Given the description of an element on the screen output the (x, y) to click on. 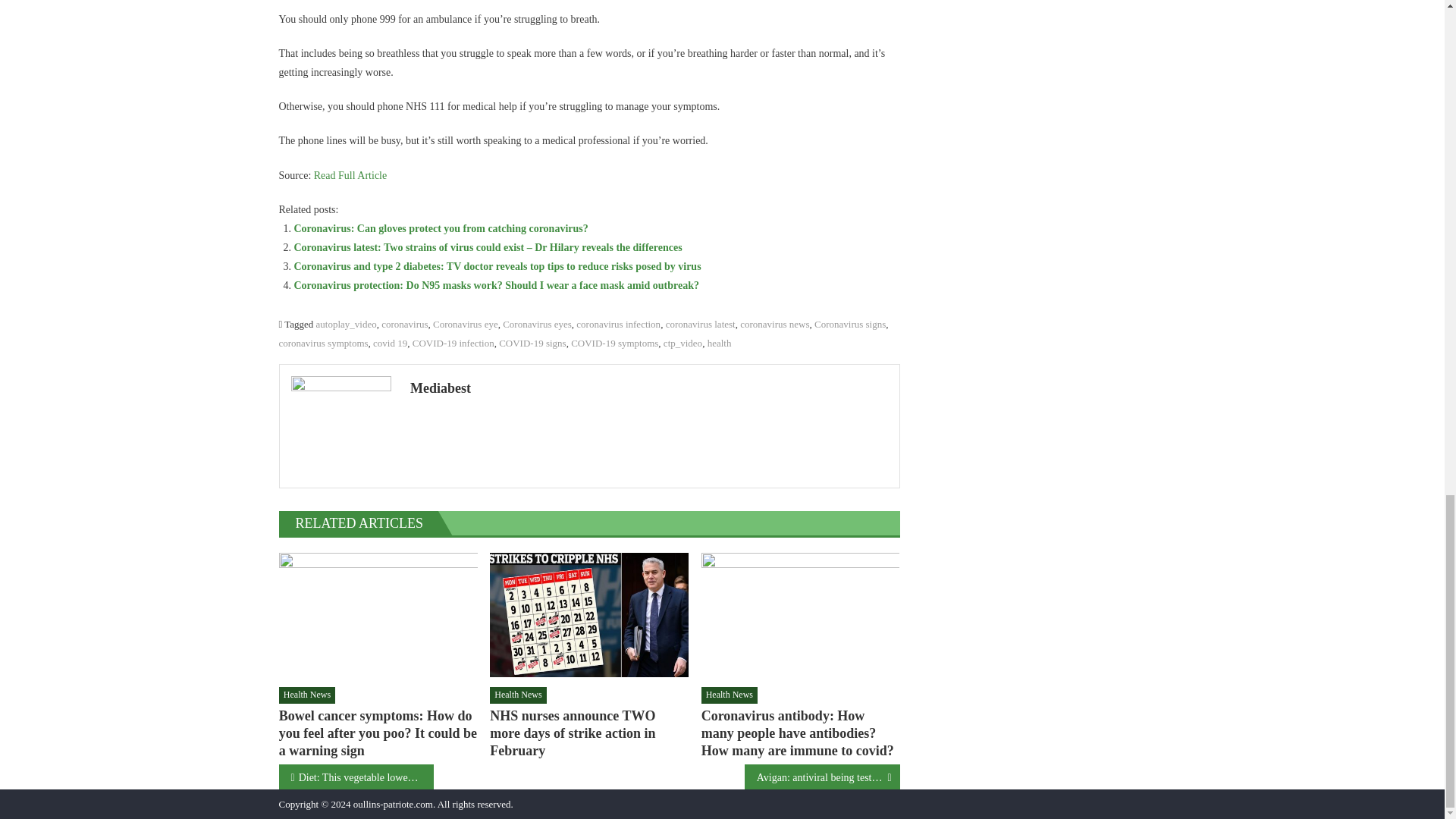
Coronavirus eyes (537, 324)
Mediabest (649, 387)
Coronavirus signs (849, 324)
coronavirus news (774, 324)
oullins-patriote.com (392, 803)
coronavirus infection (618, 324)
health (719, 342)
